Given the description of an element on the screen output the (x, y) to click on. 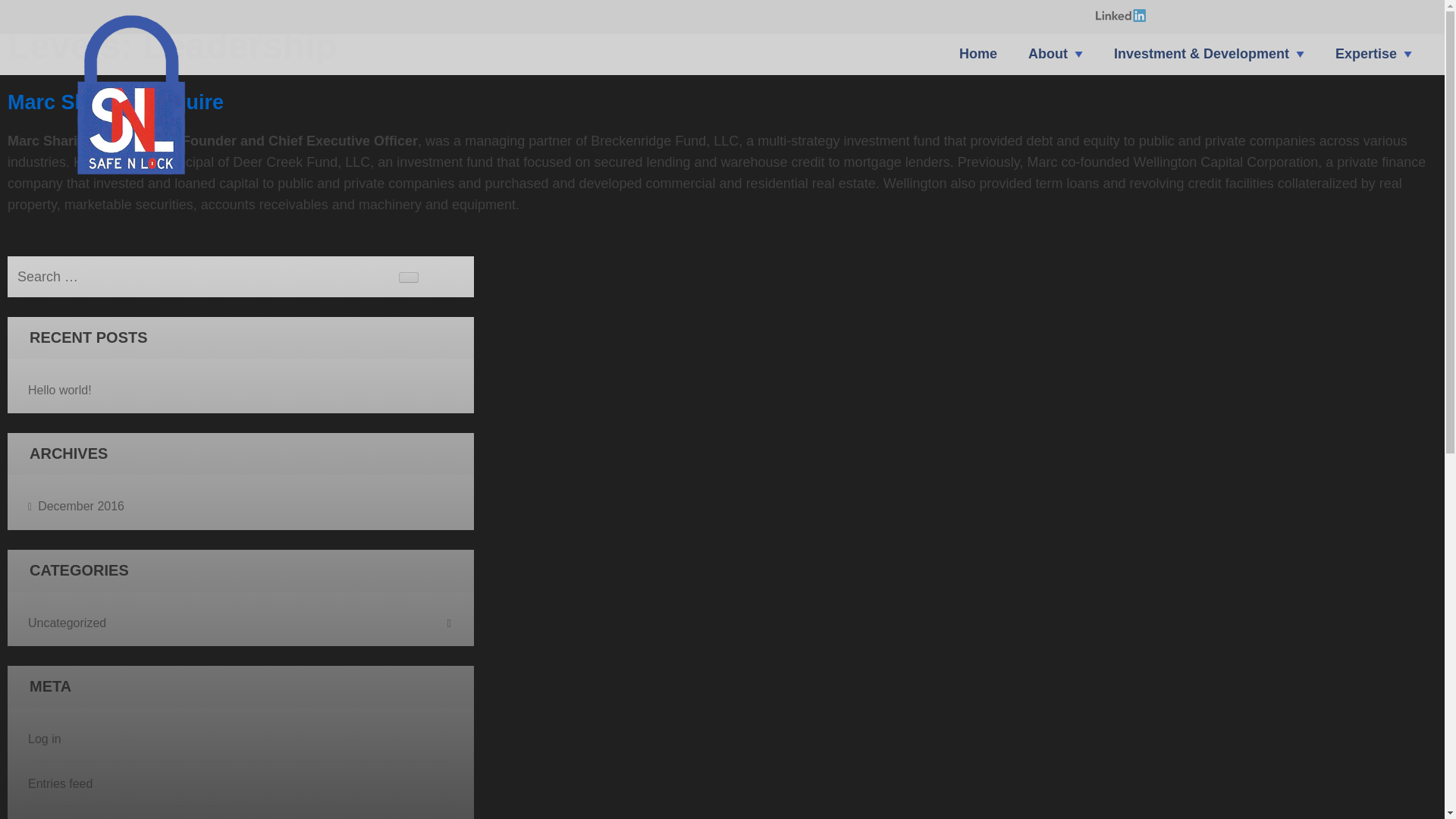
Entries feed (60, 783)
December 2016 (75, 506)
Uncategorized (239, 622)
Log in (44, 738)
Hello world! (59, 390)
Expertise (1365, 60)
Search (408, 276)
About (1047, 60)
Home (978, 60)
Marc Sharinn, Esquire (115, 101)
